Given the description of an element on the screen output the (x, y) to click on. 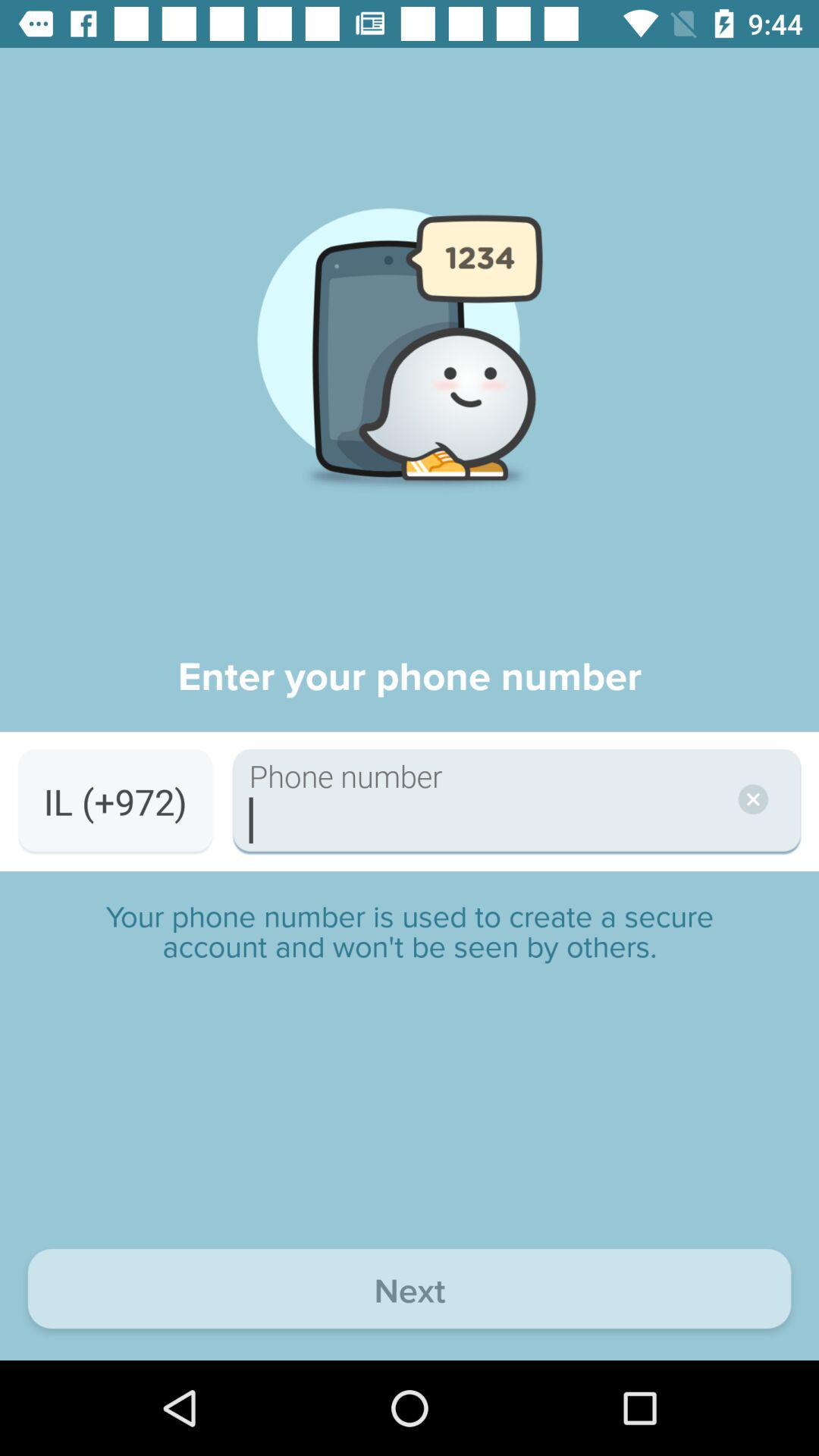
launch icon below the enter your phone icon (114, 801)
